Given the description of an element on the screen output the (x, y) to click on. 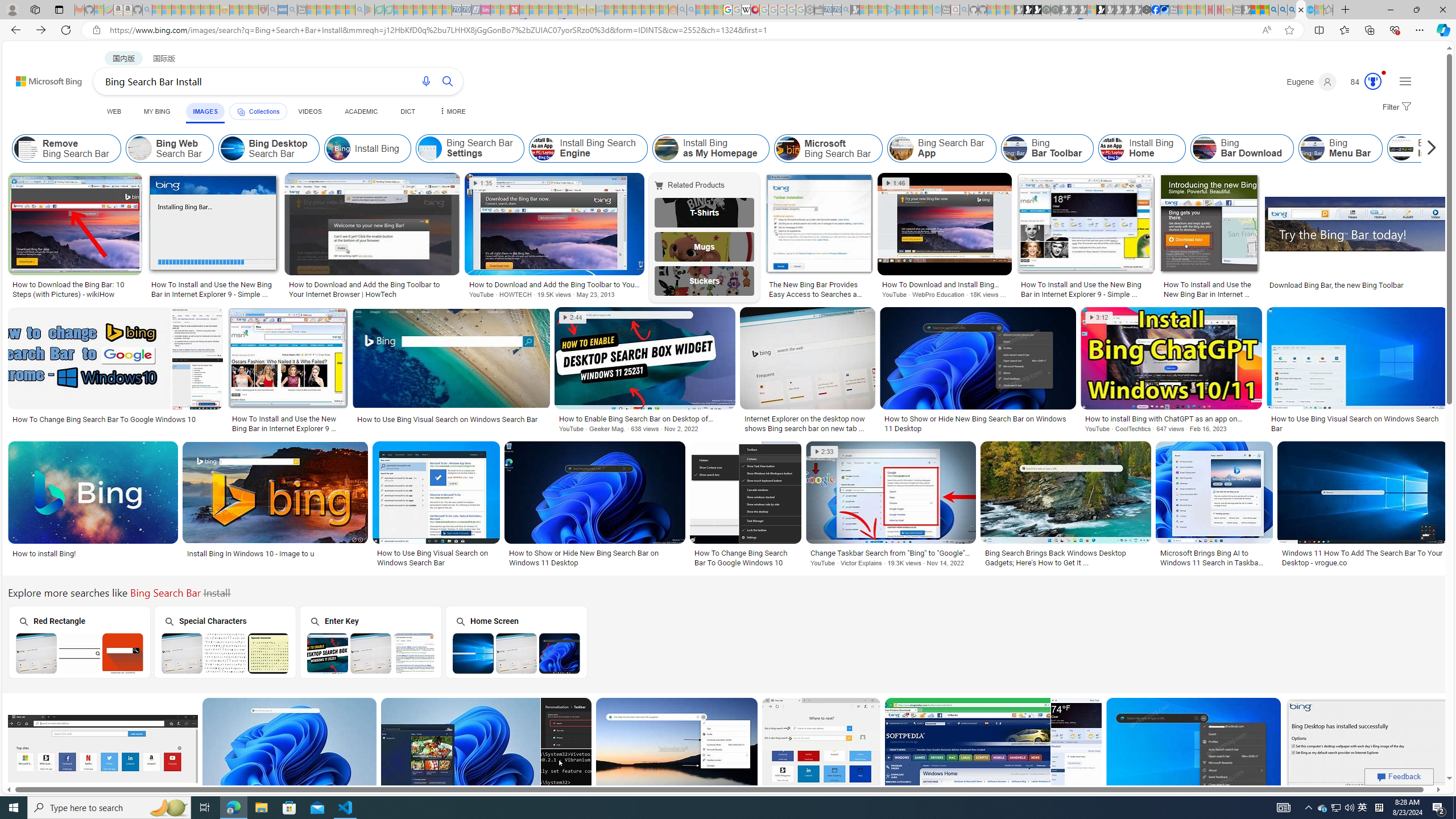
Install Bing In Windows 10 - Image to uSave (277, 505)
Install Bing In Windows 10 - Image to u (275, 552)
Bing Web Search Bar (139, 148)
Bing Image Search Not Working (1401, 148)
